Given the description of an element on the screen output the (x, y) to click on. 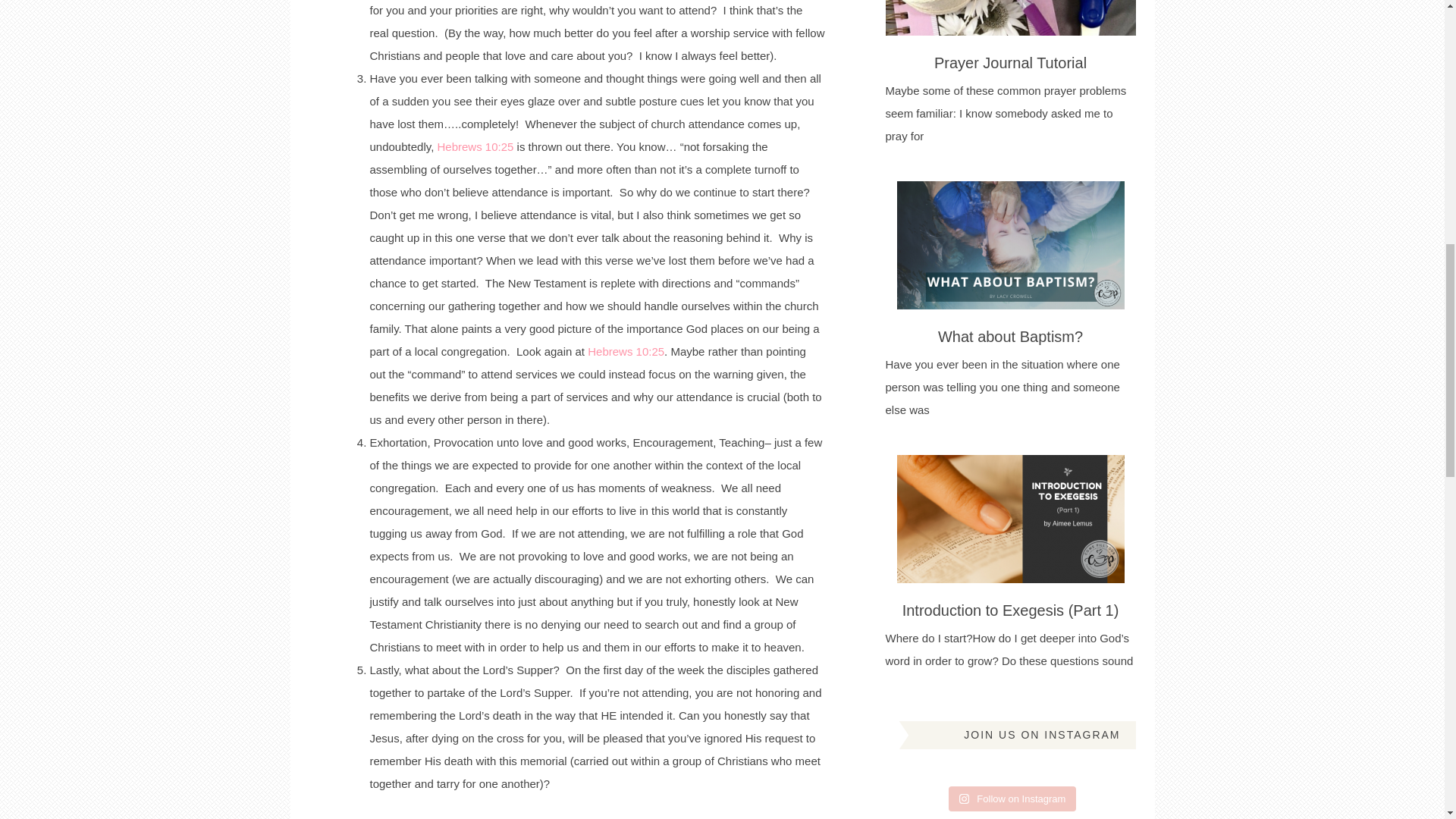
Hebrews 10:25 (474, 146)
Prayer Journal Tutorial (1010, 62)
Hebrews 10:25 (625, 350)
Follow on Instagram (1013, 799)
What about Baptism? (1010, 336)
